Given the description of an element on the screen output the (x, y) to click on. 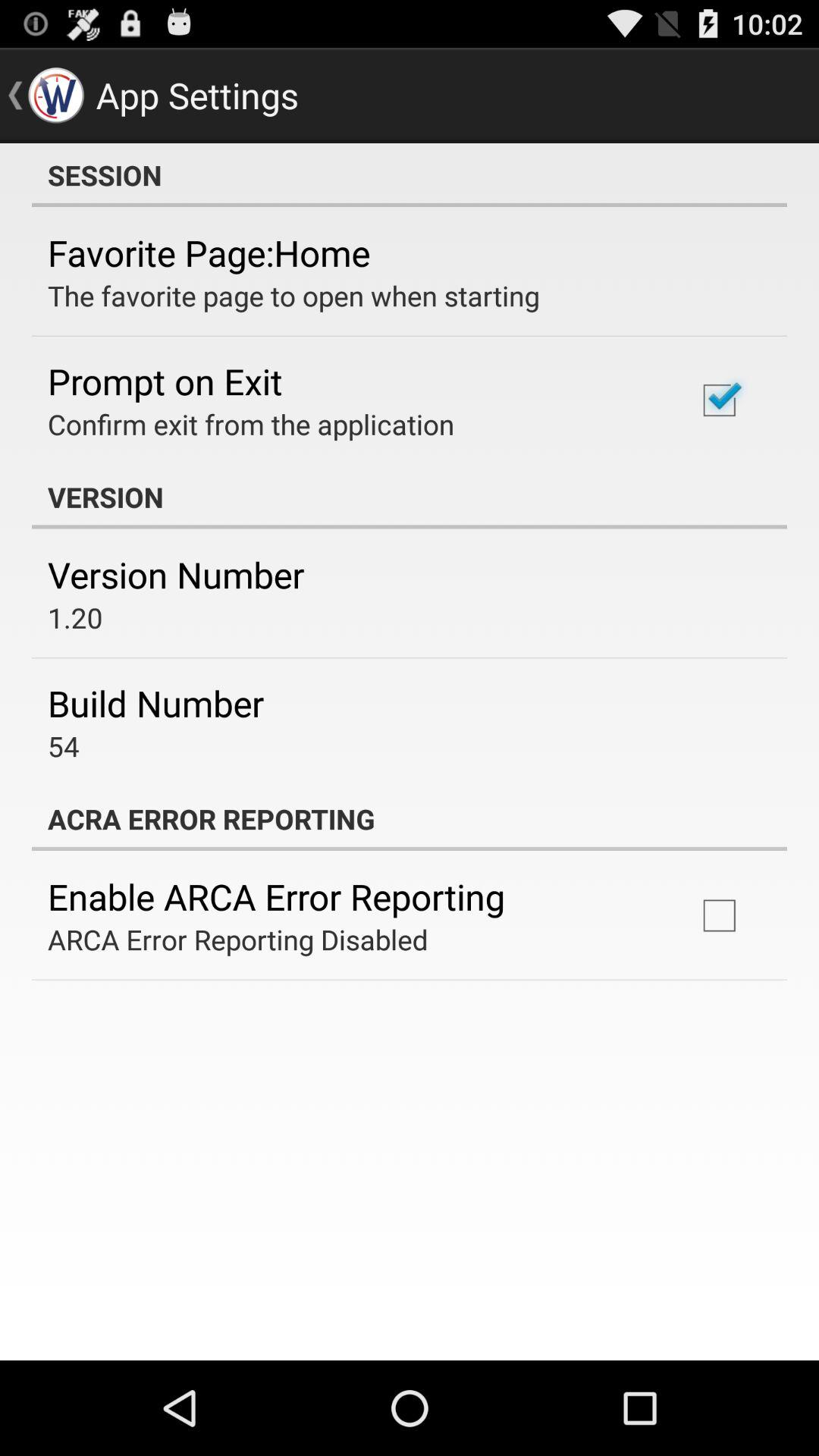
scroll to the confirm exit from app (250, 424)
